Given the description of an element on the screen output the (x, y) to click on. 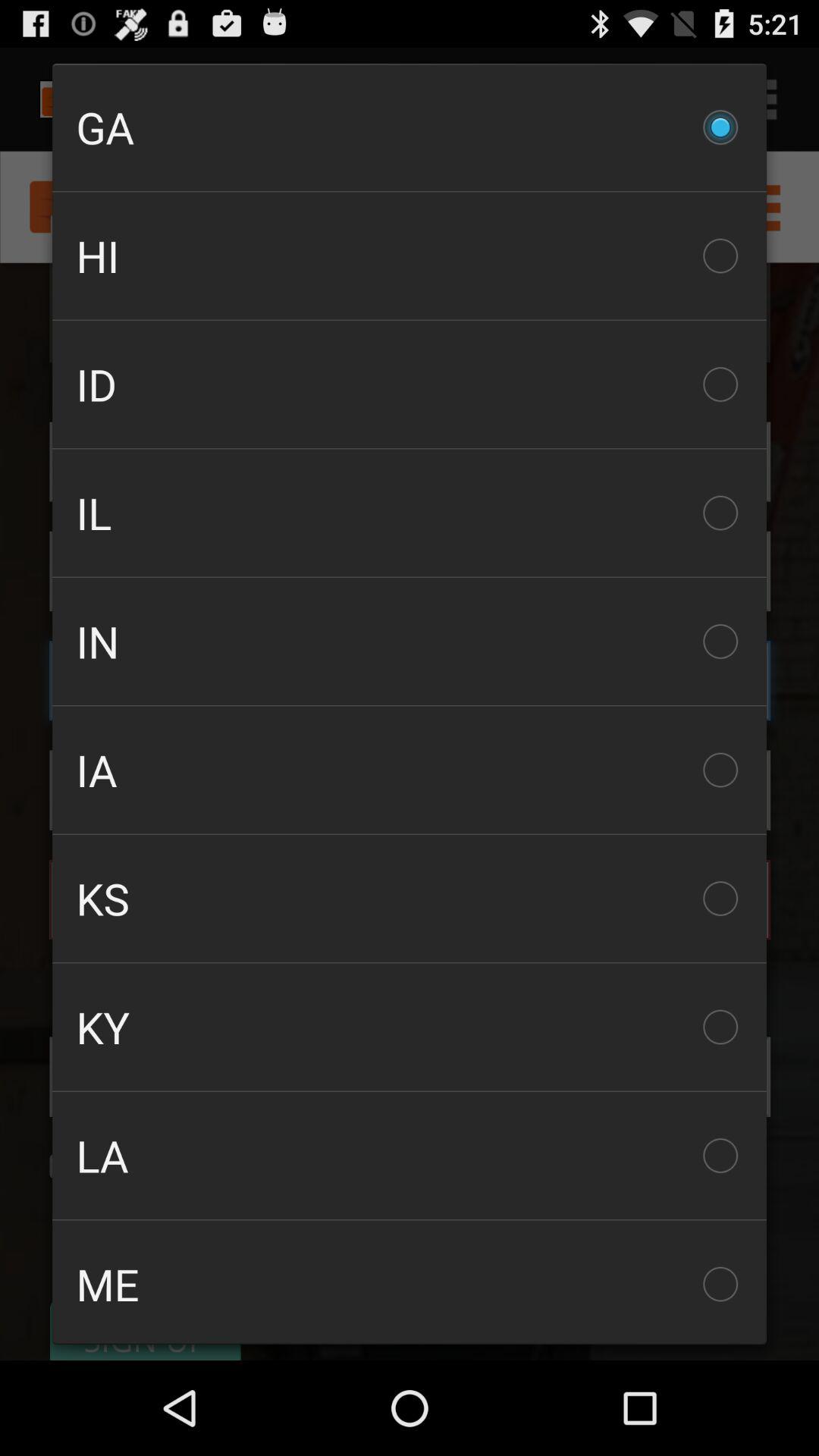
press checkbox below ky checkbox (409, 1155)
